Given the description of an element on the screen output the (x, y) to click on. 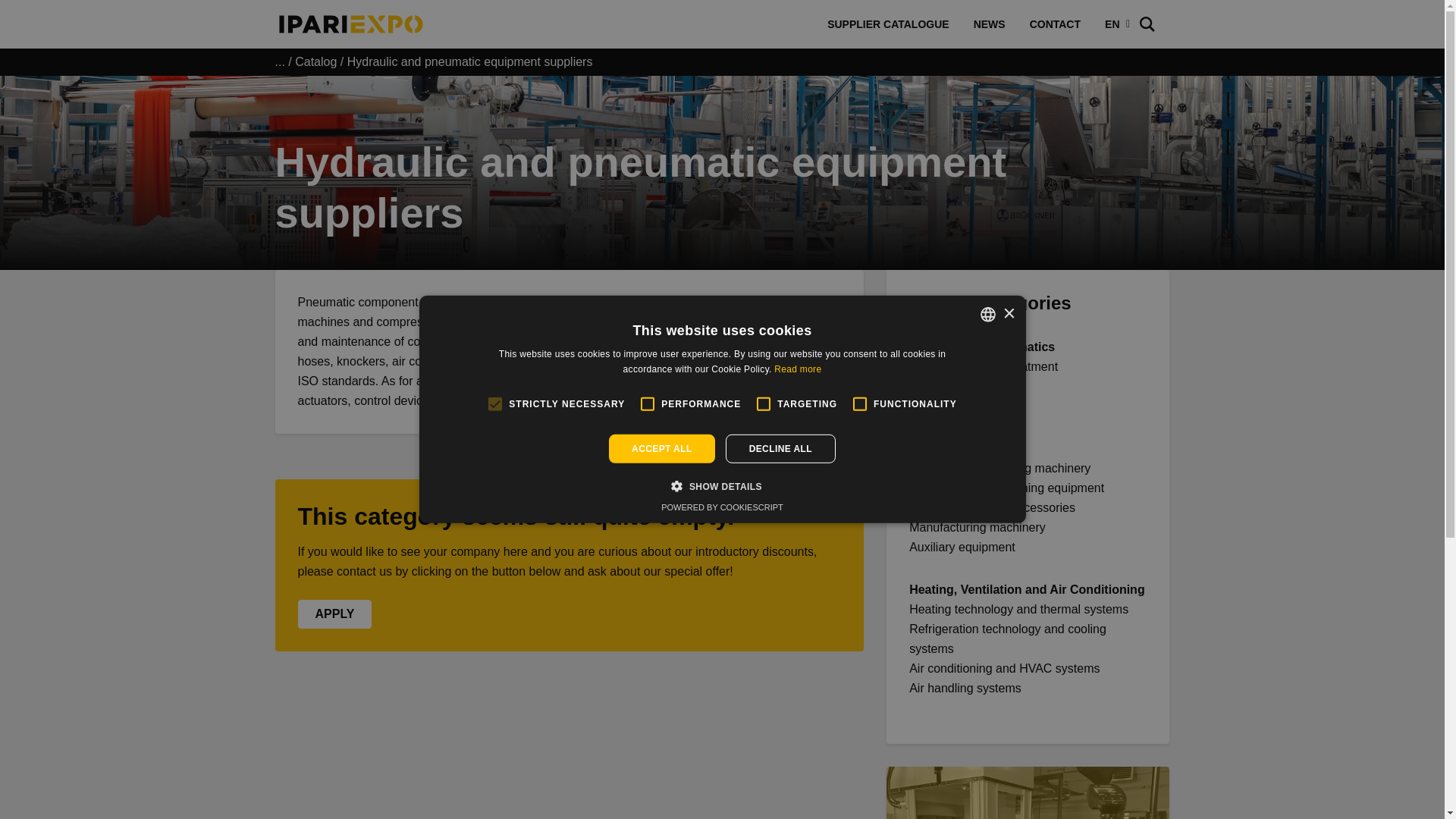
Pneumatics (940, 405)
Custom manufacturing machinery (999, 468)
NEWS (988, 24)
Earth-moving and mining equipment (1005, 487)
Manufacturing machinery (976, 526)
Catalog (315, 61)
Water supply and treatment (983, 366)
CONTACT (1055, 24)
APPLY (334, 613)
Air conditioning and HVAC systems (1003, 667)
Heating technology and thermal systems (1018, 608)
Air handling systems (965, 687)
Consent Management Platform (722, 506)
Pumps (927, 386)
Search (38, 22)
